Given the description of an element on the screen output the (x, y) to click on. 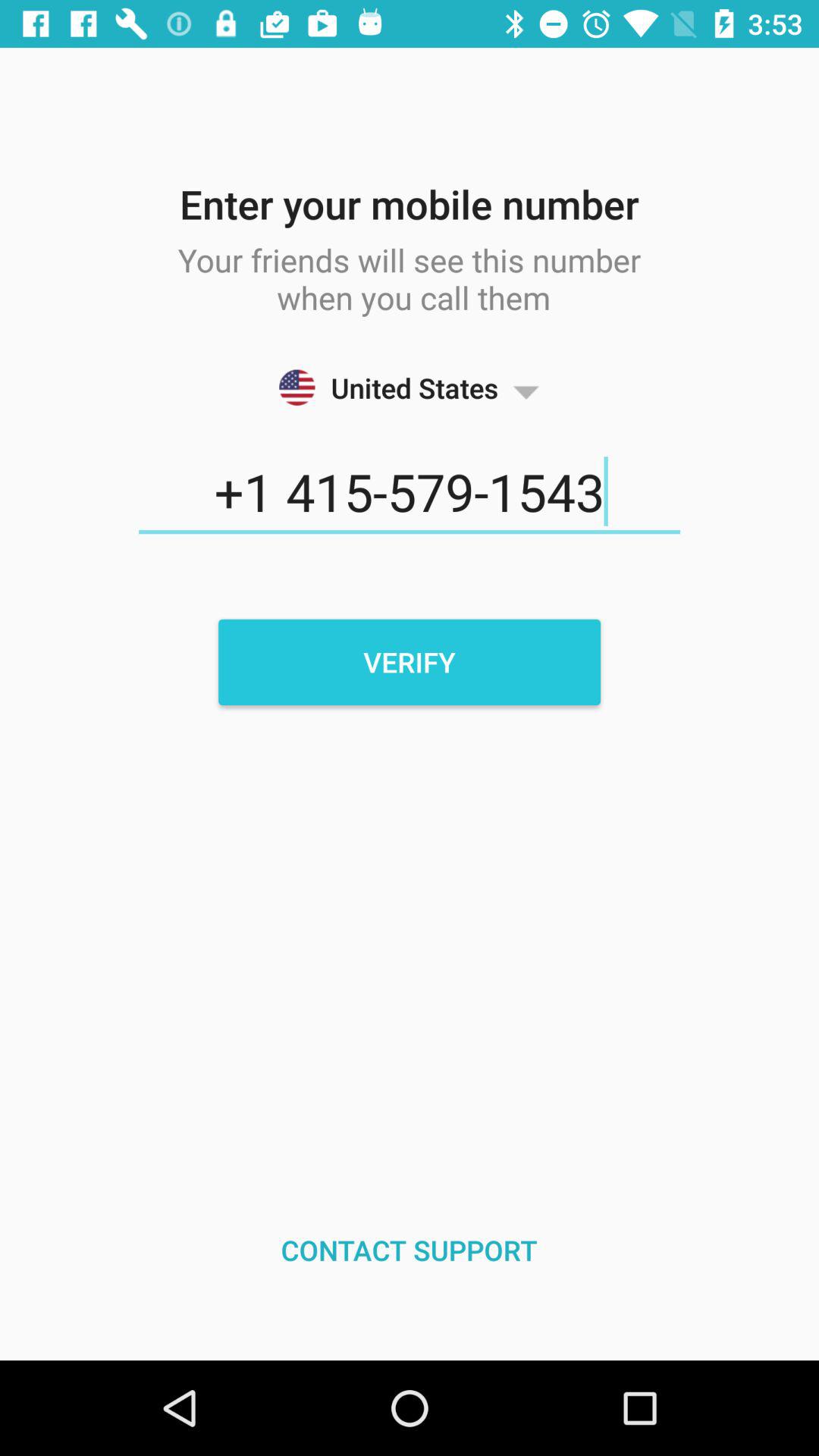
open the item below the 1 415 579 (409, 662)
